Given the description of an element on the screen output the (x, y) to click on. 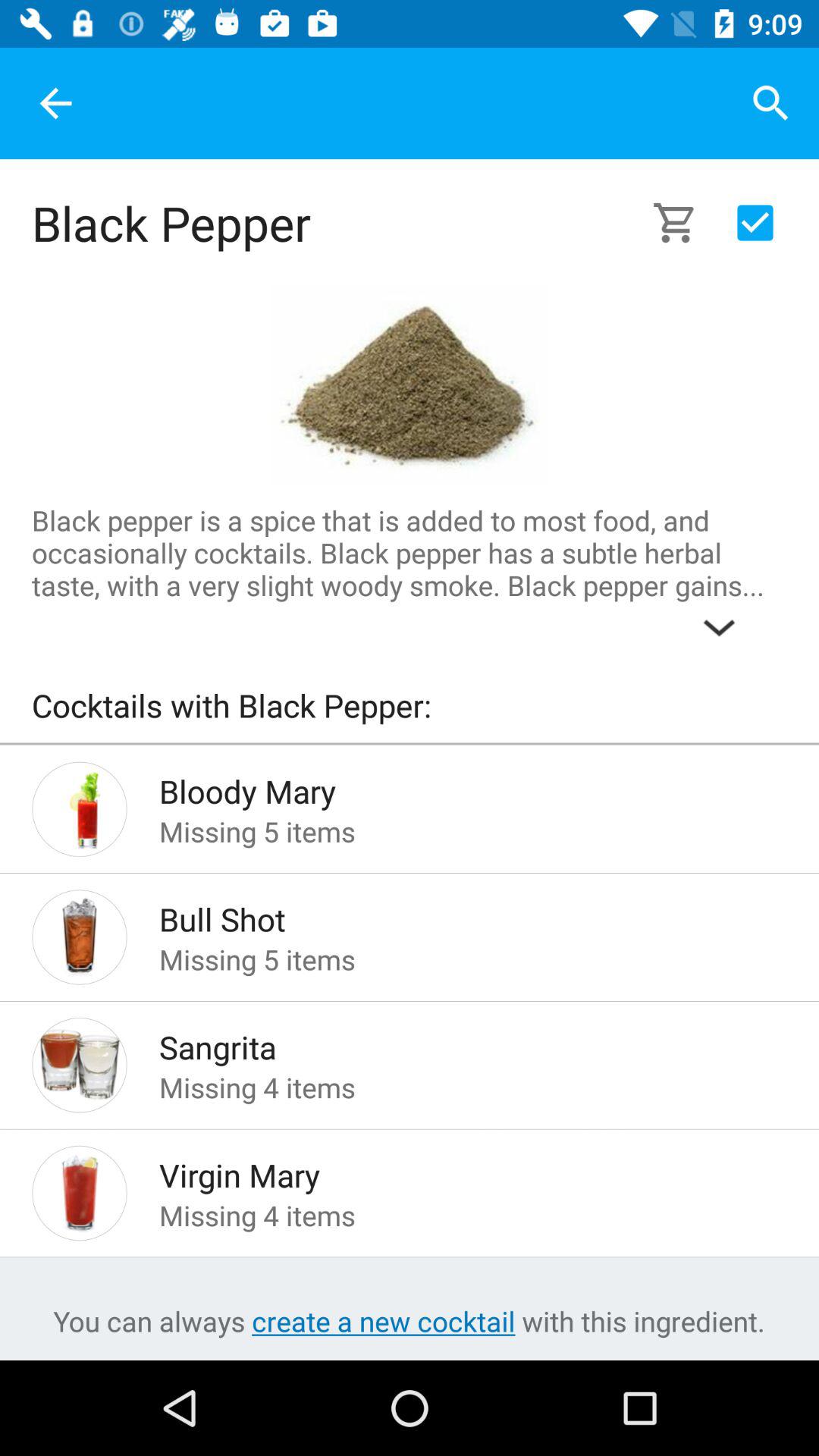
jump until the bloody mary icon (449, 786)
